Given the description of an element on the screen output the (x, y) to click on. 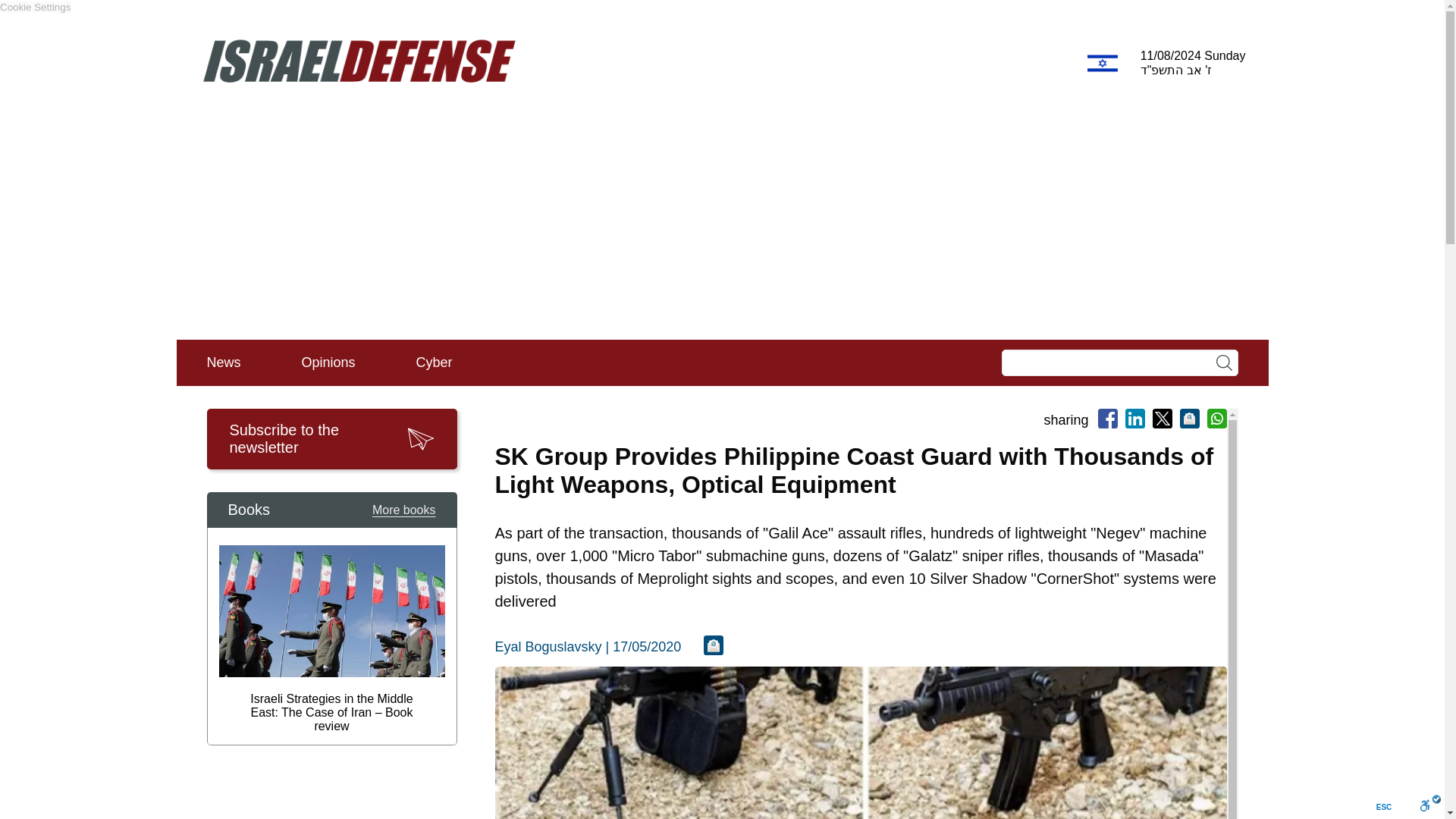
More books (403, 509)
Cookie Settings (34, 7)
Hebrew (1102, 63)
Cyber (434, 362)
Eyal Boguslavsky (548, 646)
News (223, 362)
search (1223, 362)
search (1223, 362)
Subscribe to the newsletter (331, 438)
